Given the description of an element on the screen output the (x, y) to click on. 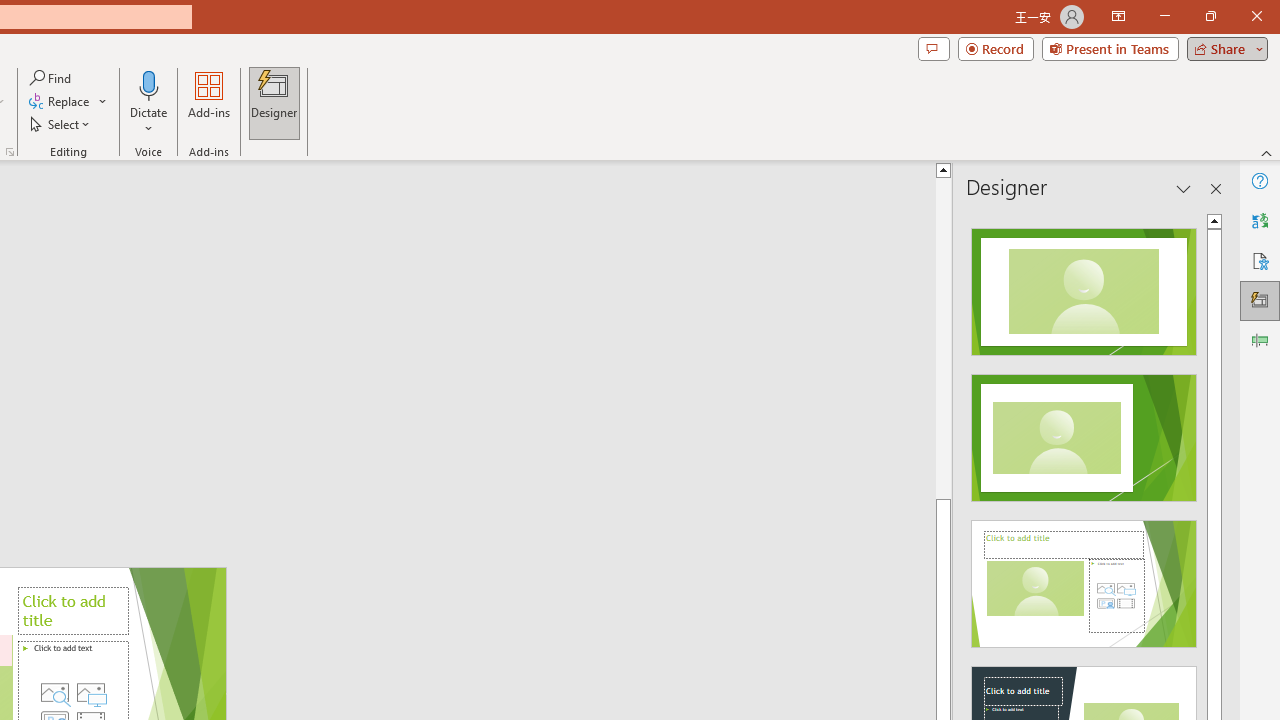
Recommended Design: Design Idea (1083, 286)
Design Idea (1083, 577)
Stock Images (54, 692)
Animation Pane (1260, 340)
